Given the description of an element on the screen output the (x, y) to click on. 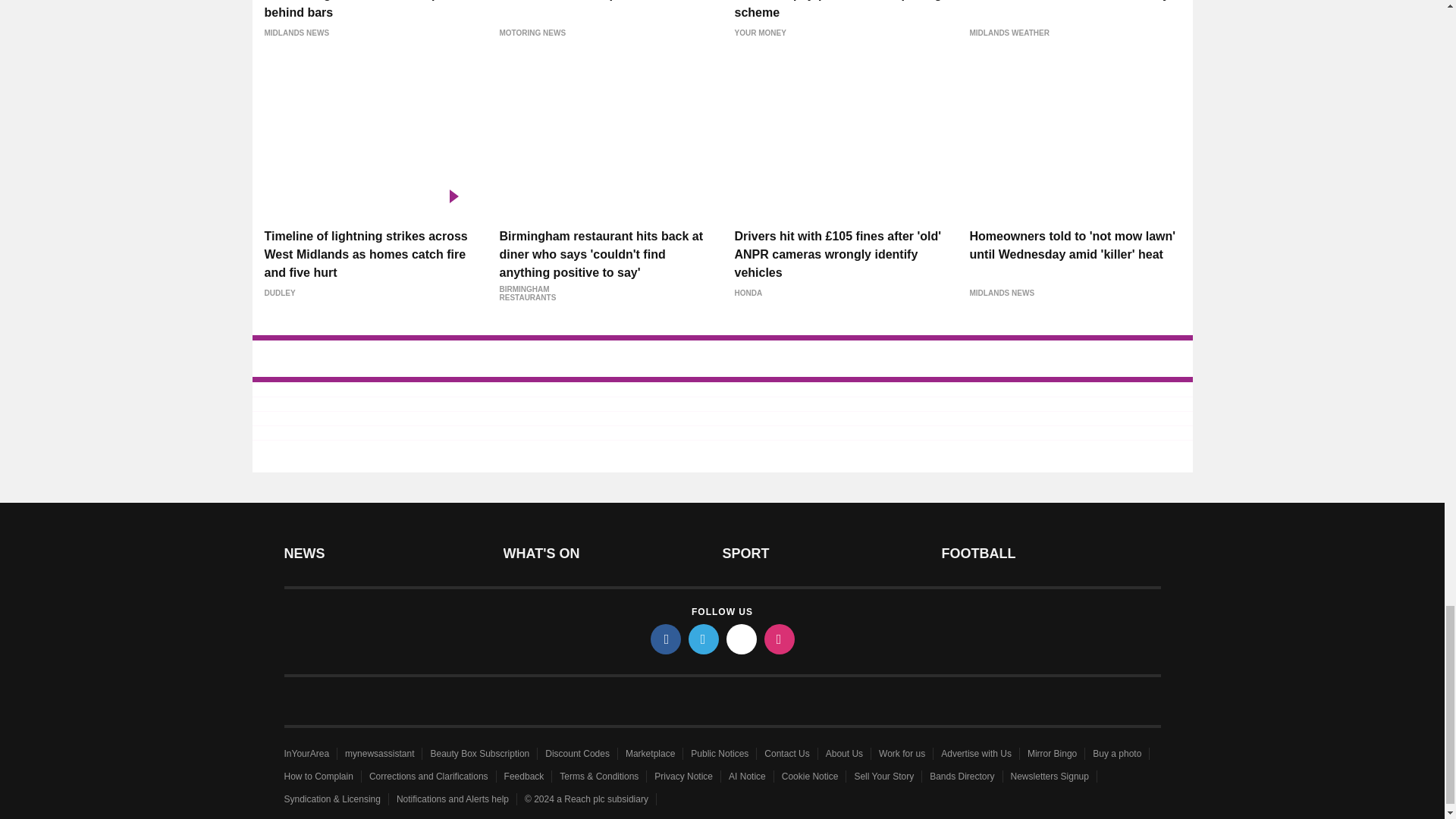
instagram (779, 639)
facebook (665, 639)
tiktok (741, 639)
twitter (703, 639)
